Given the description of an element on the screen output the (x, y) to click on. 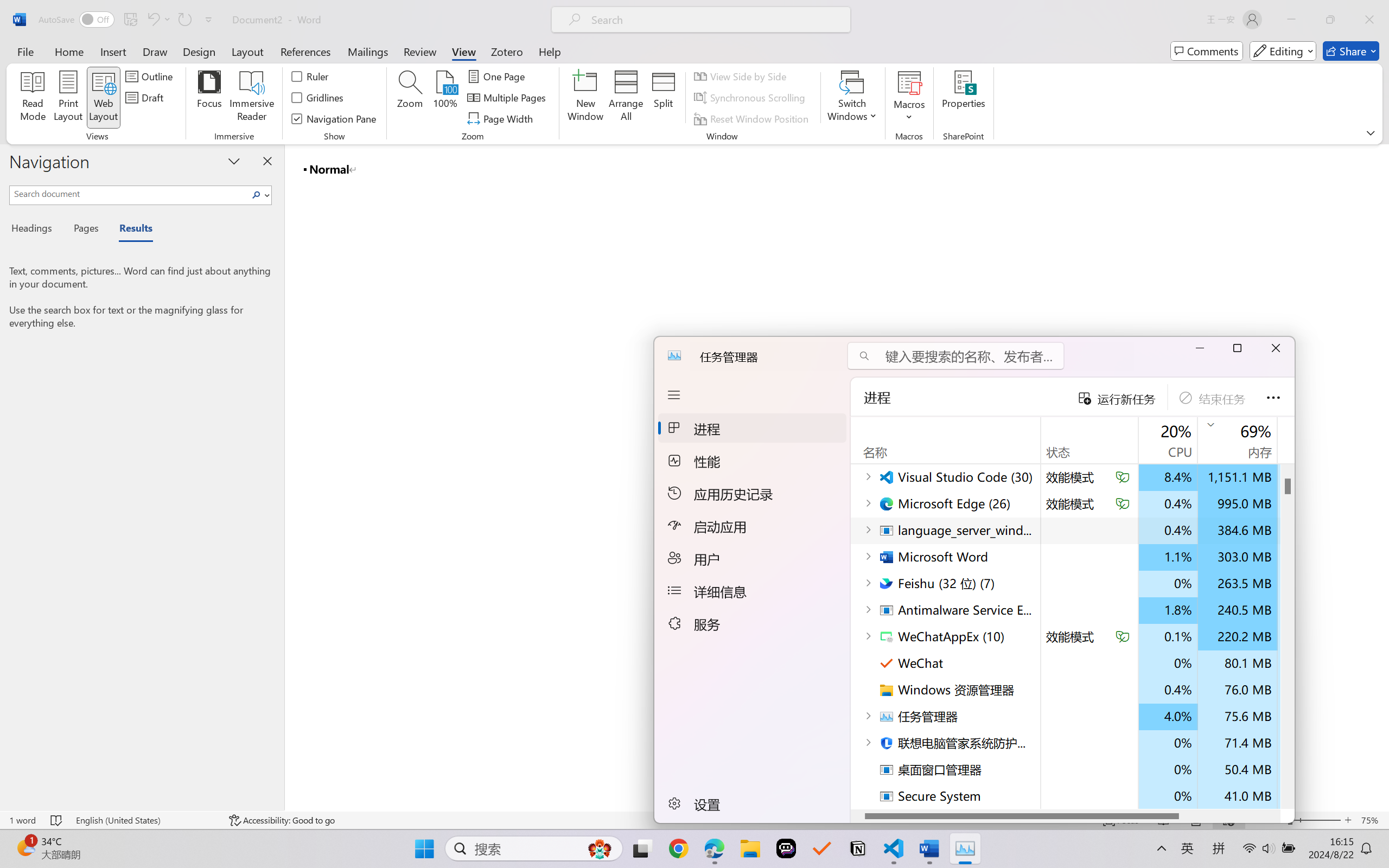
Draw (155, 51)
Switch Windows (852, 97)
AutoSave (76, 19)
Quick Access Toolbar (127, 19)
Reset Window Position (752, 118)
Page Width (501, 118)
Ribbon Display Options (1370, 132)
Results (130, 229)
Outline (150, 75)
